Given the description of an element on the screen output the (x, y) to click on. 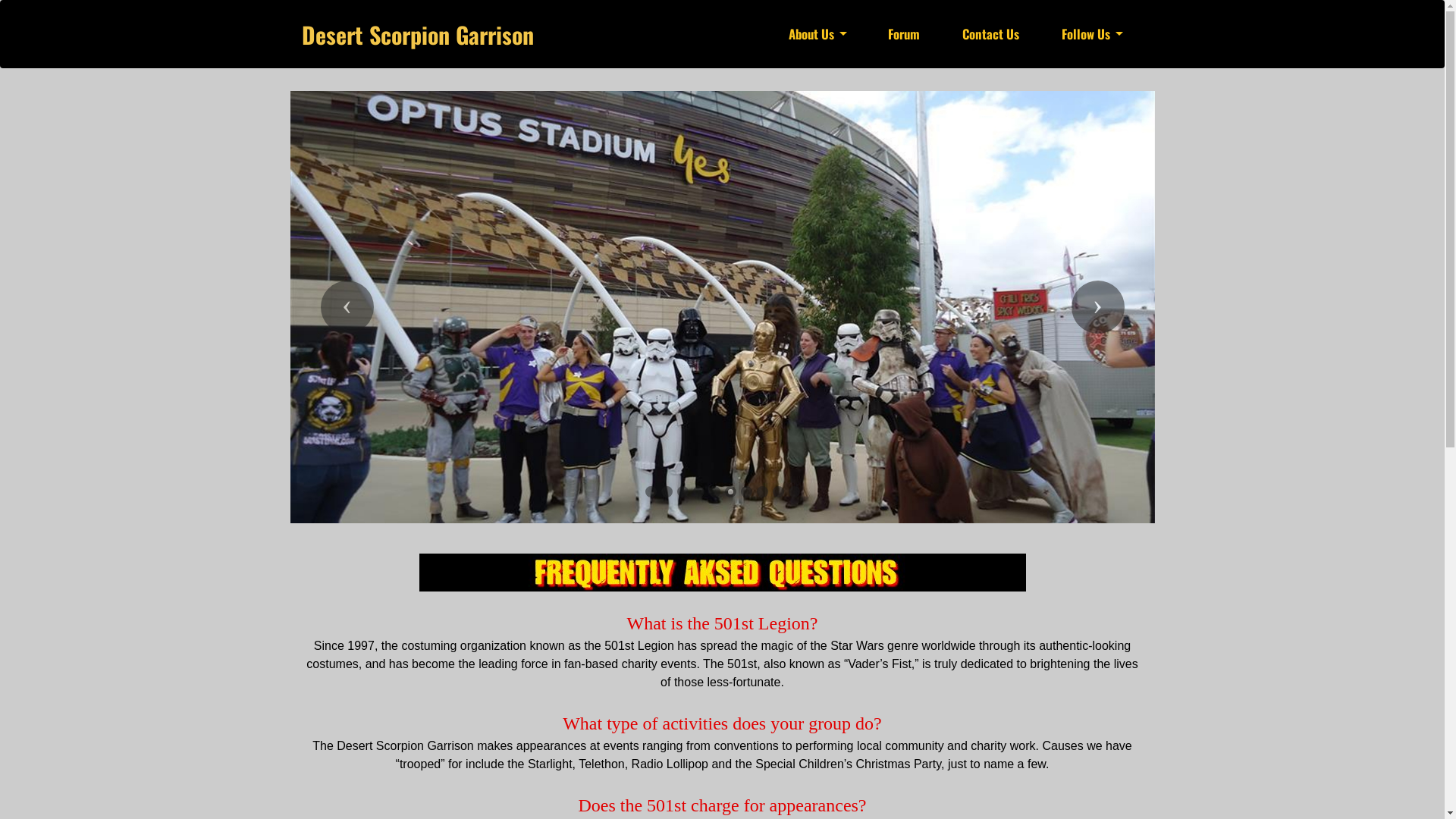
Follow Us Element type: text (1085, 33)
Forum Element type: text (903, 33)
Next Element type: text (1096, 306)
Contact Us Element type: text (990, 33)
Previous Element type: text (346, 306)
About Us Element type: text (811, 33)
Desert Scorpion Garrison Element type: text (417, 33)
